Given the description of an element on the screen output the (x, y) to click on. 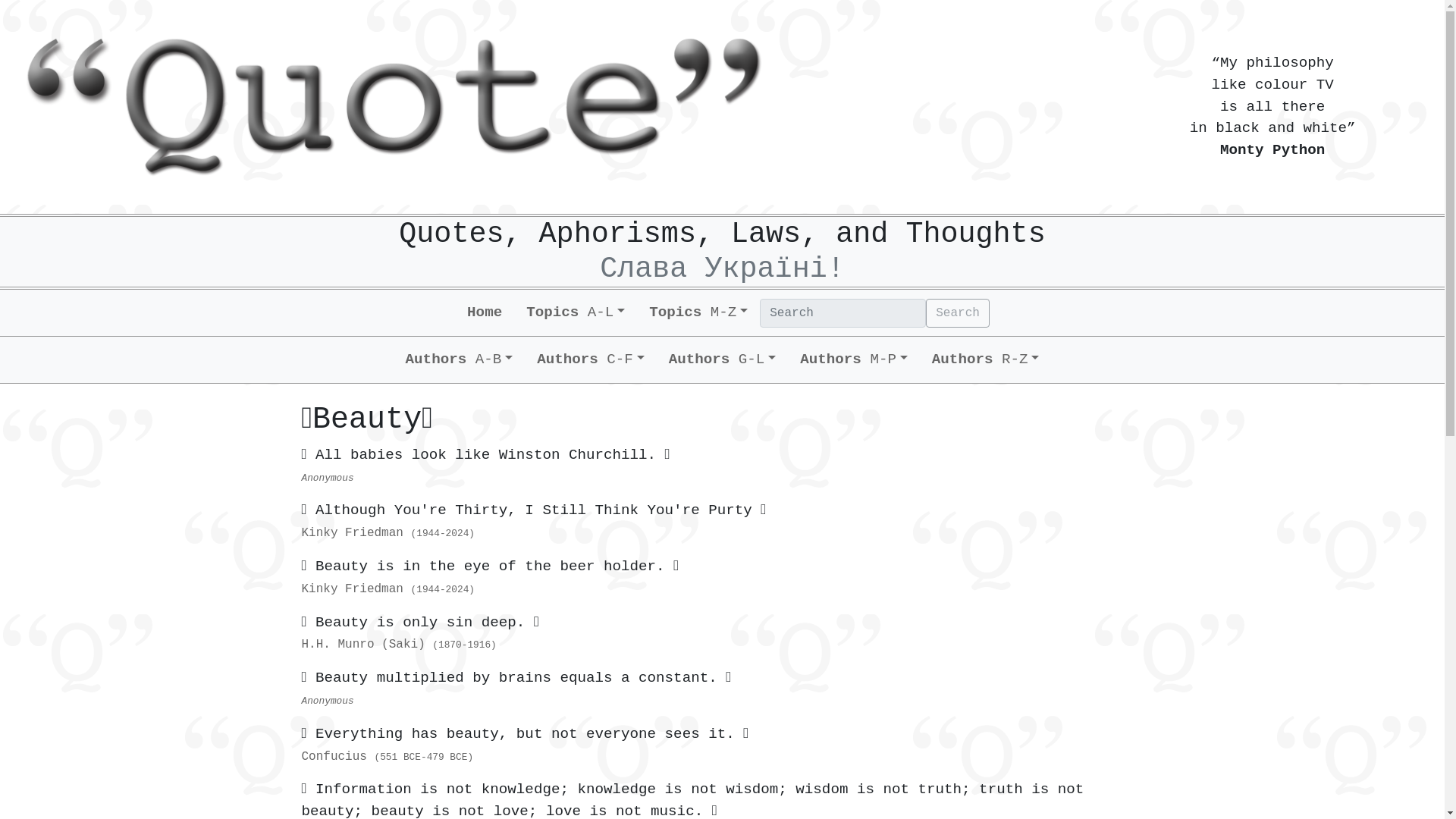
Home (483, 312)
